Given the description of an element on the screen output the (x, y) to click on. 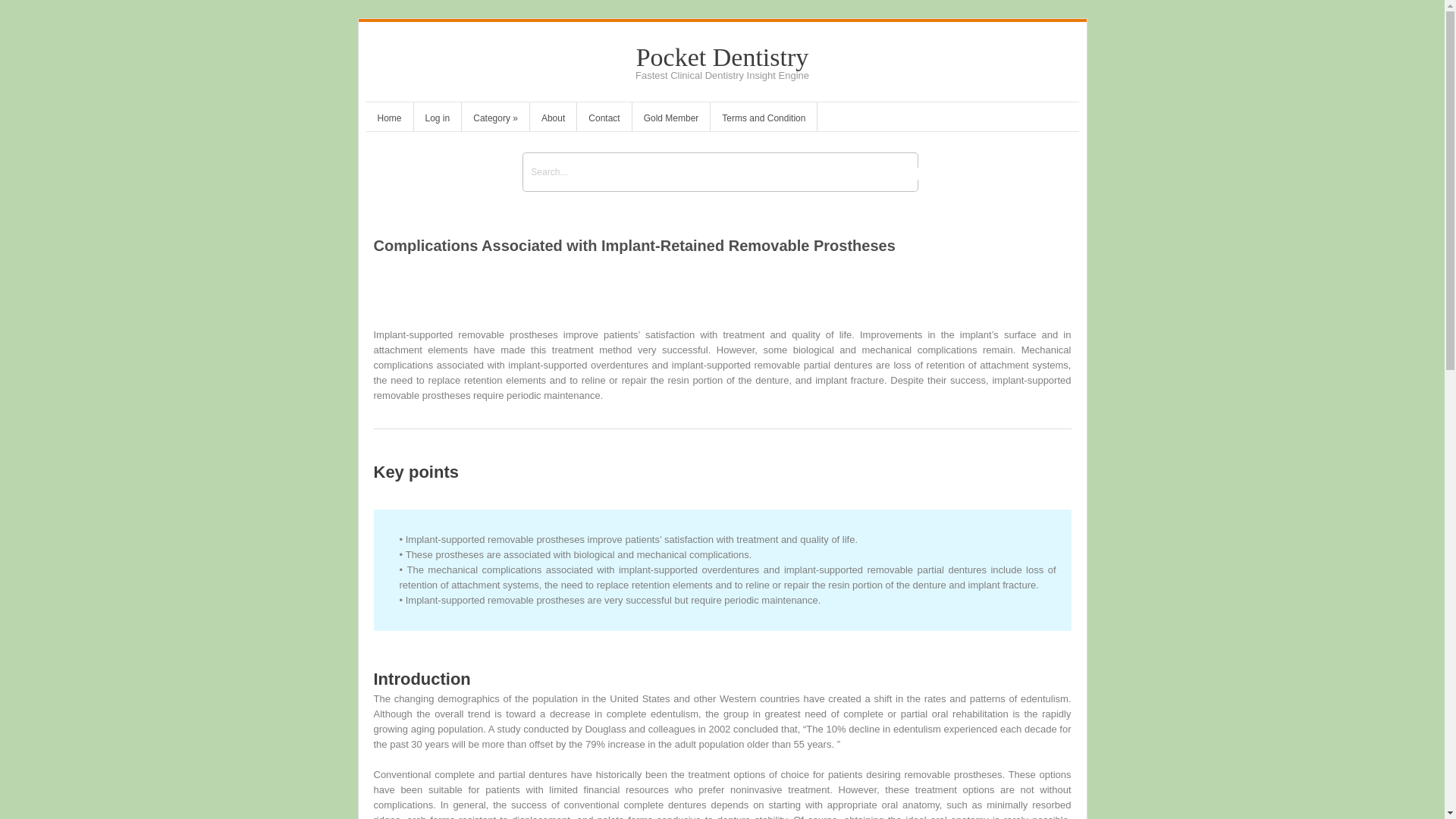
Pocket Dentistry (722, 57)
Home (388, 119)
About (552, 119)
Terms and Condition (763, 119)
Contact (603, 119)
Log in (437, 119)
Pocket Dentistry (722, 57)
Gold Member (670, 119)
